Given the description of an element on the screen output the (x, y) to click on. 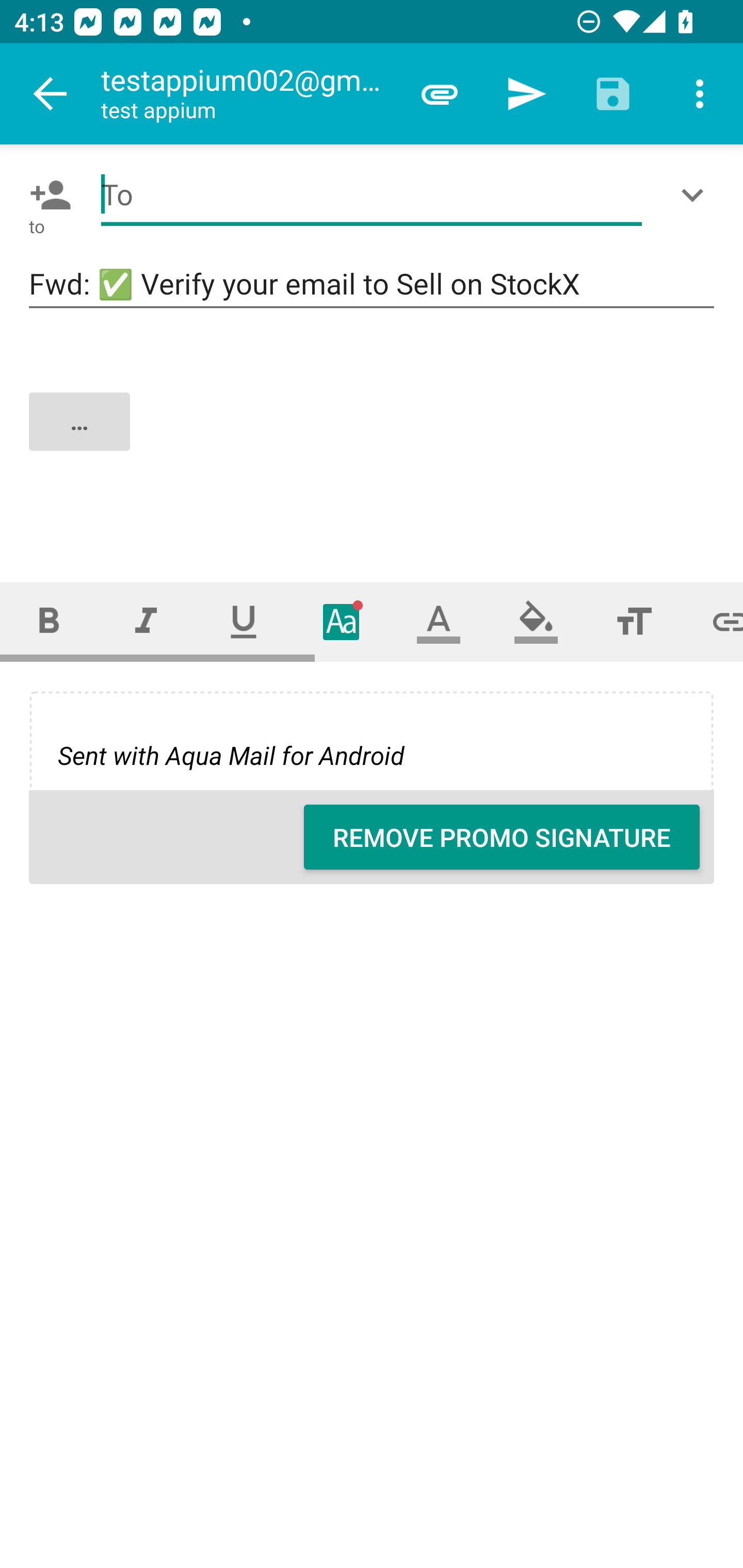
Navigate up (50, 93)
testappium002@gmail.com test appium (248, 93)
Attach (439, 93)
Send (525, 93)
Save (612, 93)
More options (699, 93)
Pick contact: To (46, 195)
Show/Add CC/BCC (696, 195)
To (371, 195)
Fwd: ✅ Verify your email to Sell on StockX (371, 284)

…
 (372, 438)
Bold (48, 621)
Italic (145, 621)
Underline (243, 621)
Typeface (font) (341, 621)
Text color (438, 621)
Fill color (536, 621)
Font size (633, 621)
REMOVE PROMO SIGNATURE (501, 837)
